Given the description of an element on the screen output the (x, y) to click on. 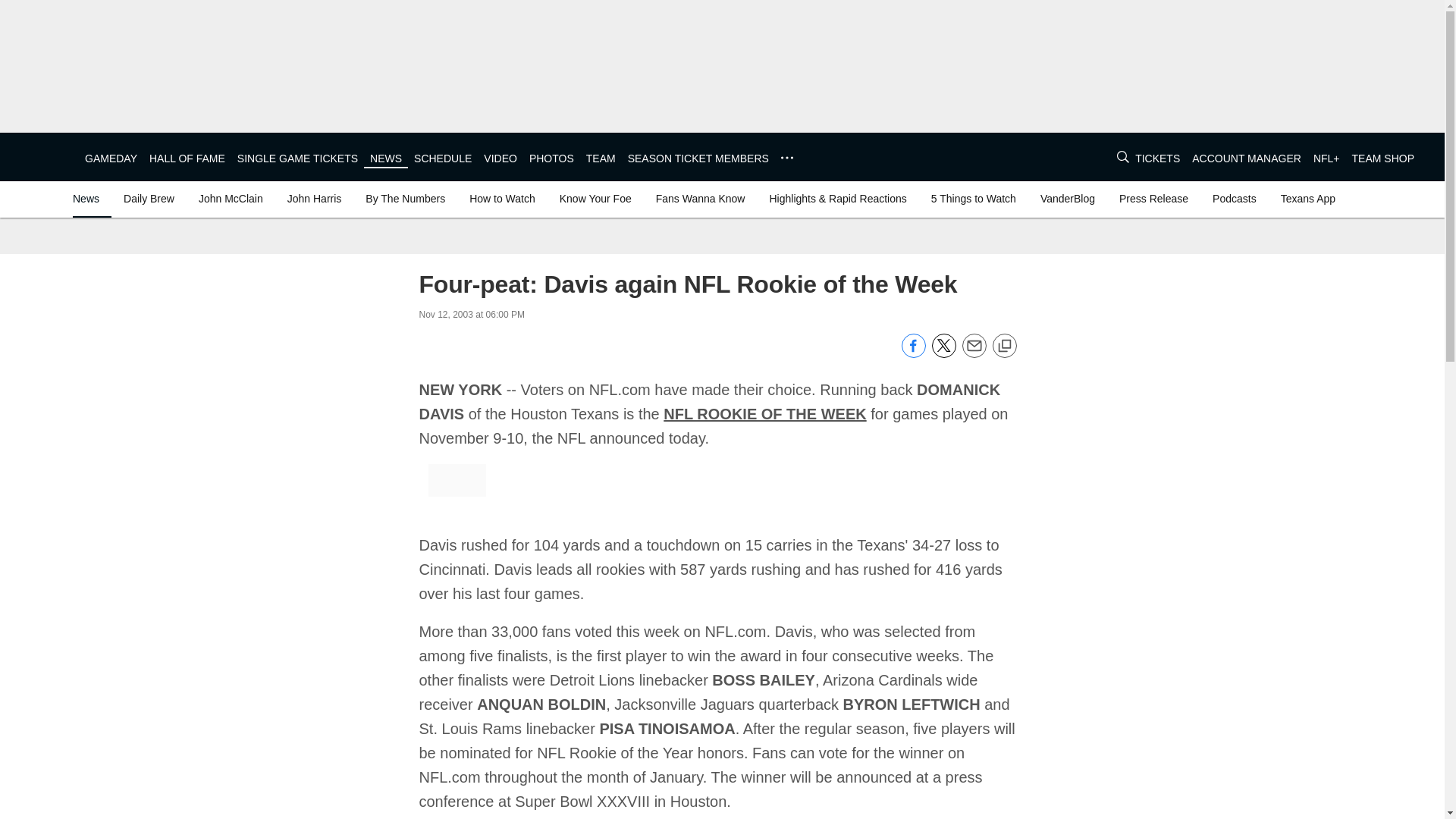
John McClain (230, 198)
VIDEO (499, 158)
SCHEDULE (442, 158)
ACCOUNT MANAGER (1246, 158)
TEAM SHOP (1382, 158)
HALL OF FAME (187, 158)
SEASON TICKET MEMBERS (697, 158)
TICKETS (1157, 158)
GAMEDAY (110, 158)
How to Watch (502, 198)
